Given the description of an element on the screen output the (x, y) to click on. 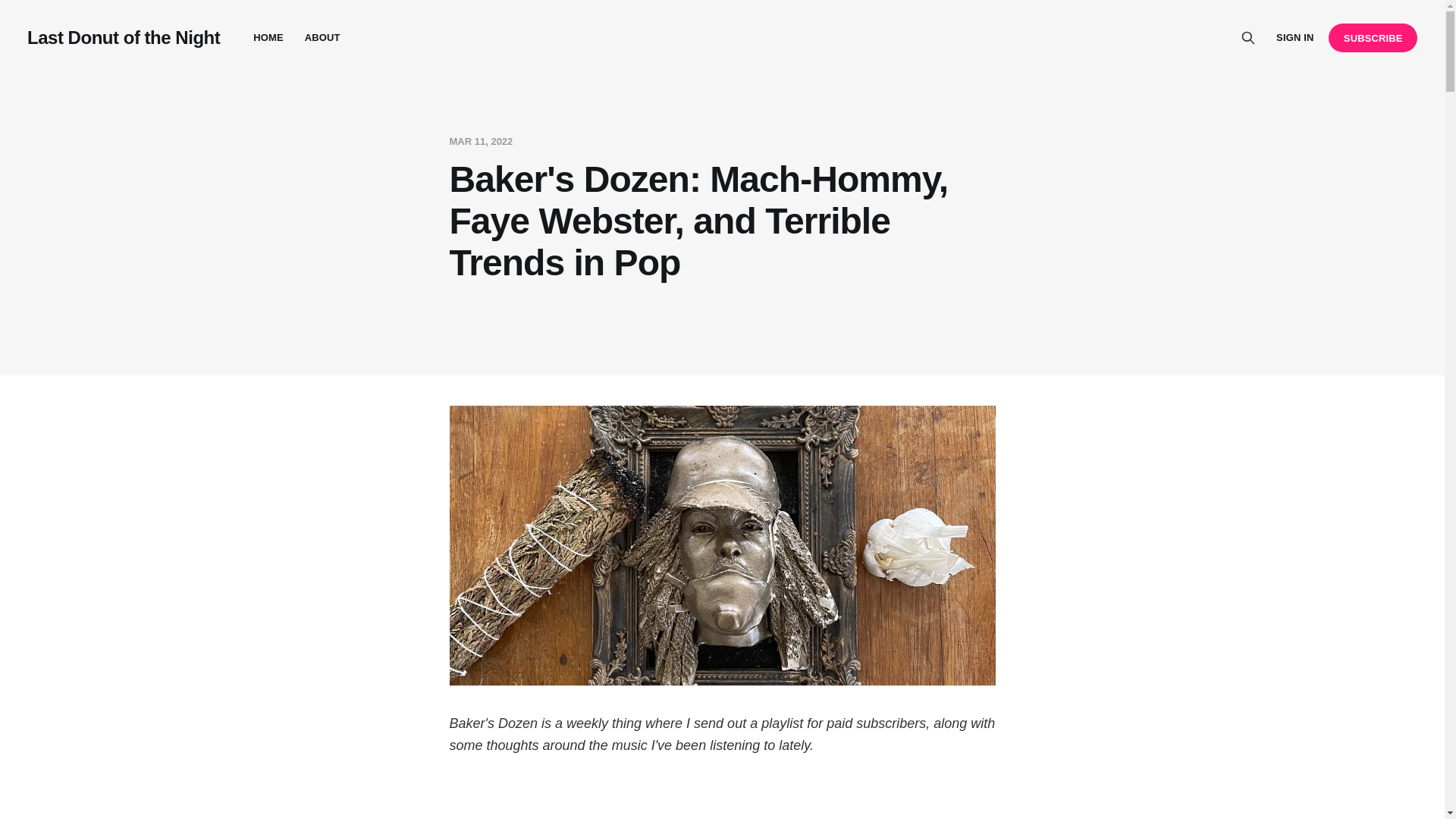
SIGN IN (1294, 37)
spotify (721, 800)
SUBSCRIBE (1371, 37)
Last Donut of the Night (123, 37)
HOME (268, 37)
ABOUT (322, 37)
